Given the description of an element on the screen output the (x, y) to click on. 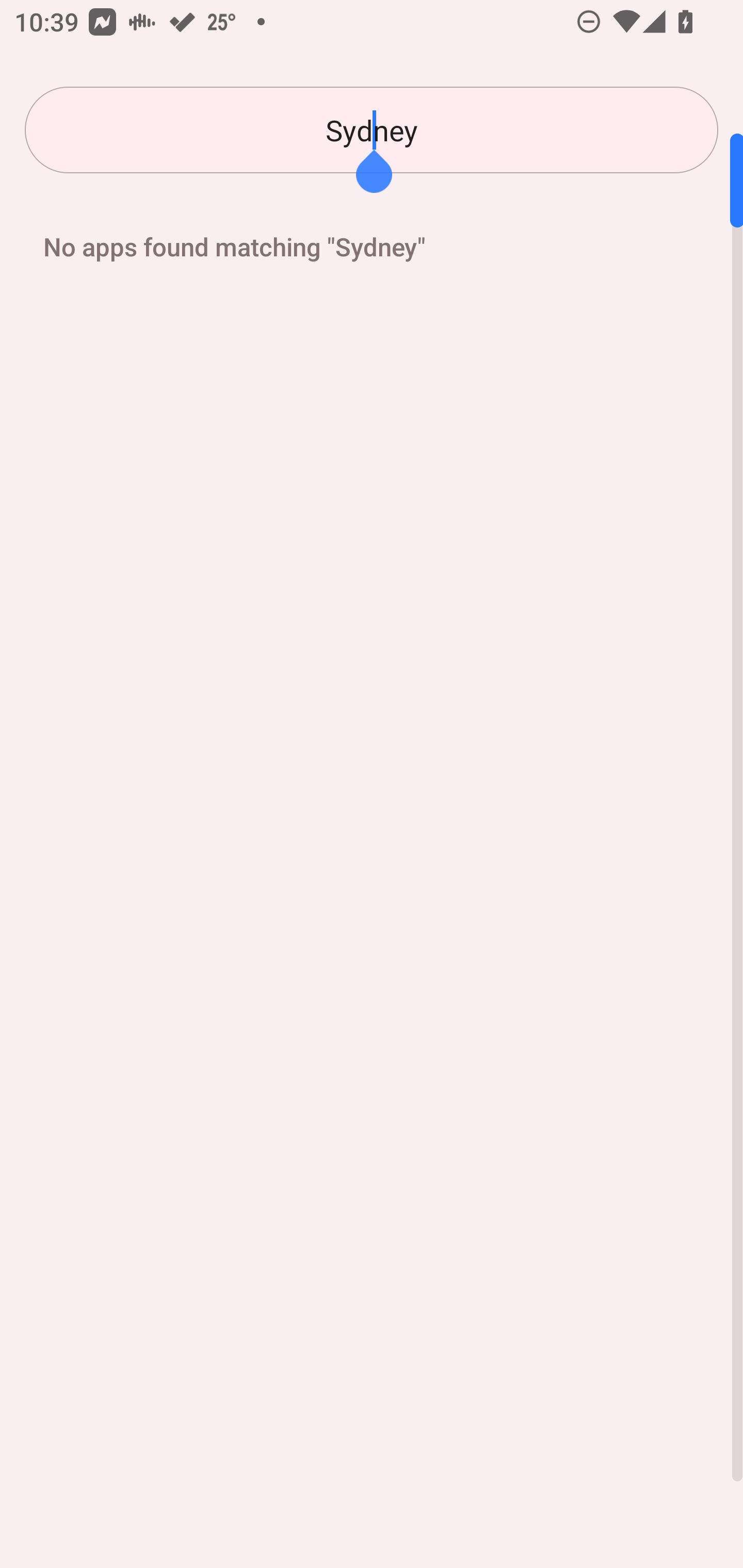
Sydney (371, 130)
